Given the description of an element on the screen output the (x, y) to click on. 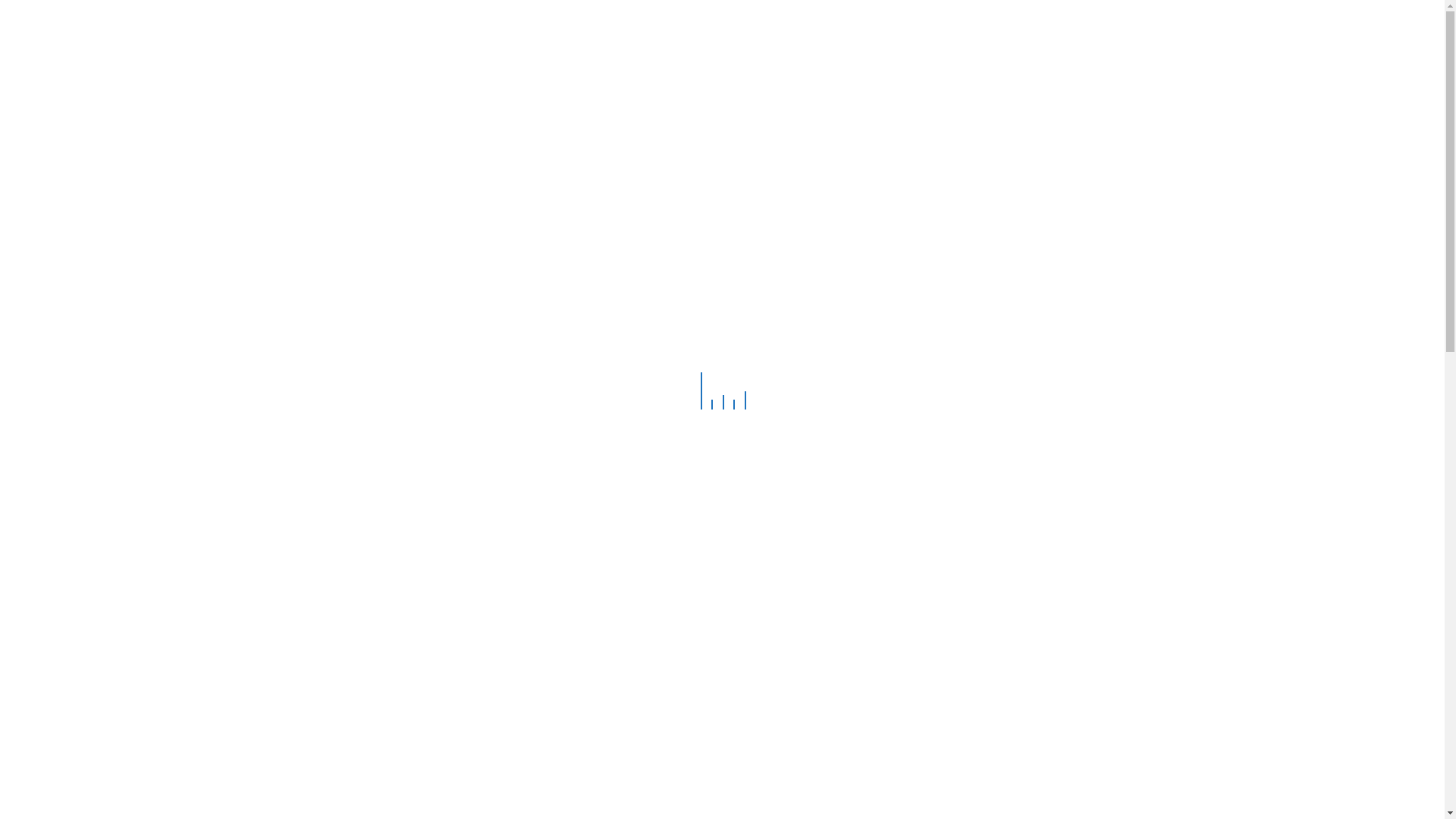
Skip to content Element type: text (477, 48)
